Given the description of an element on the screen output the (x, y) to click on. 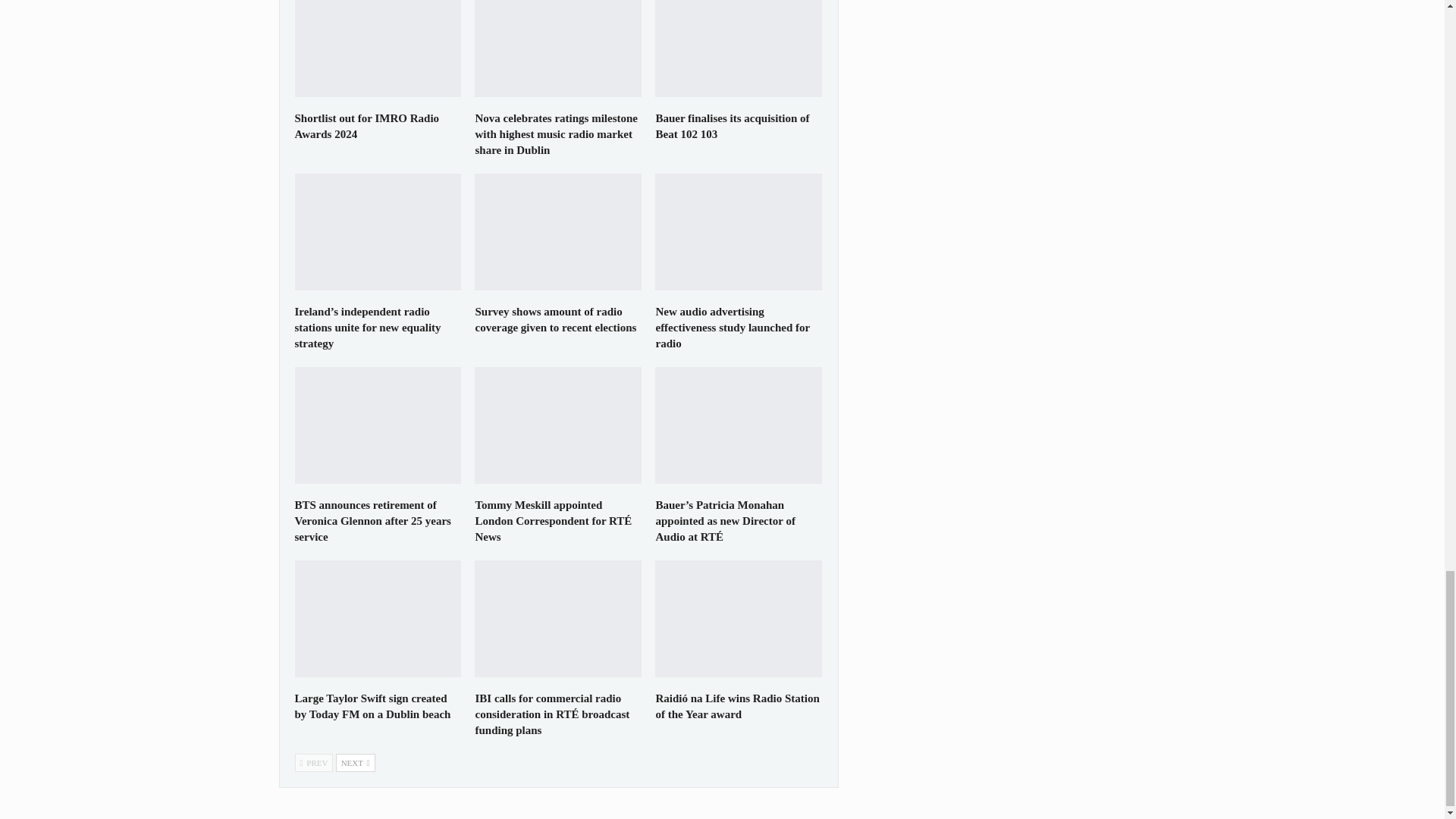
Bauer finalises its acquisition of Beat 102 103 (732, 126)
Shortlist out for IMRO Radio Awards 2024 (377, 48)
Shortlist out for IMRO Radio Awards 2024 (366, 126)
Shortlist out for IMRO Radio Awards 2024 (366, 126)
Bauer finalises its acquisition of Beat 102 103 (738, 48)
New audio advertising effectiveness study launched for radio (738, 231)
